Given the description of an element on the screen output the (x, y) to click on. 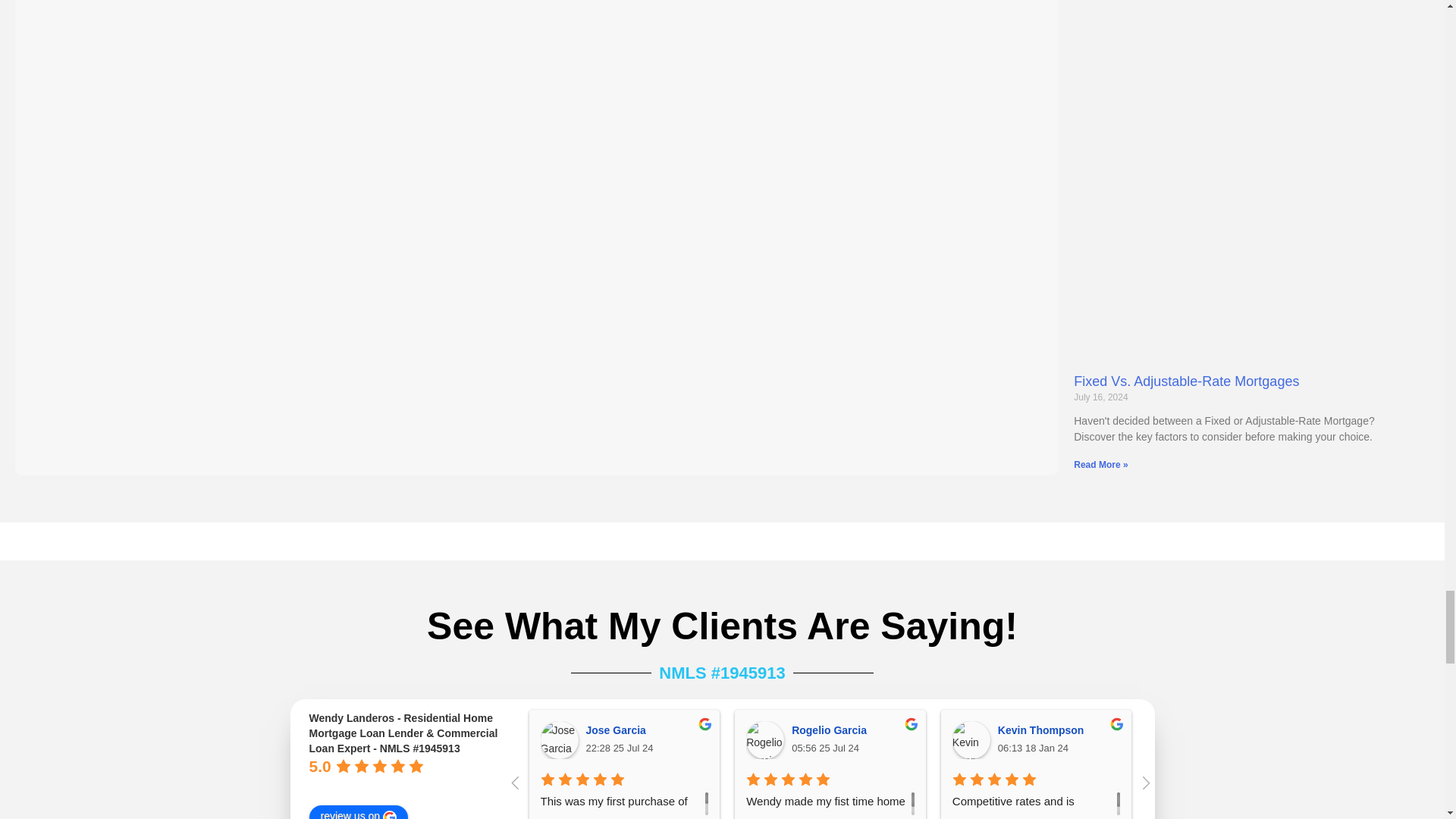
Rogelio Garcia (764, 740)
Jose Garcia (559, 740)
Boris Kogan (1383, 740)
Luis Irizarry (1176, 740)
powered by Google (363, 785)
Kevin Thompson (971, 740)
